Given the description of an element on the screen output the (x, y) to click on. 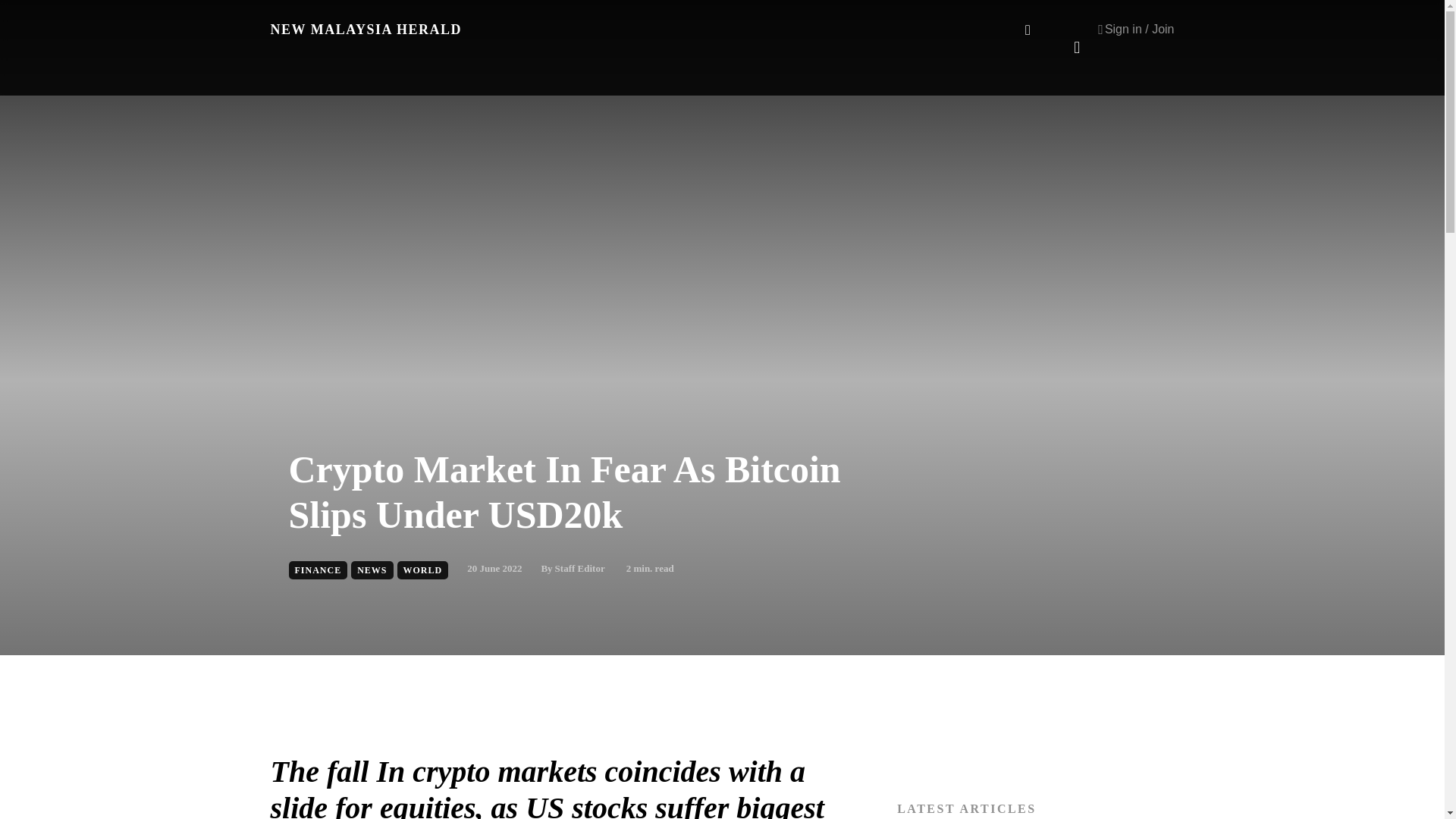
NEW MALAYSIA HERALD (365, 29)
Staff Editor (579, 568)
WORLD (422, 570)
NEWS (371, 570)
FINANCE (317, 570)
